Given the description of an element on the screen output the (x, y) to click on. 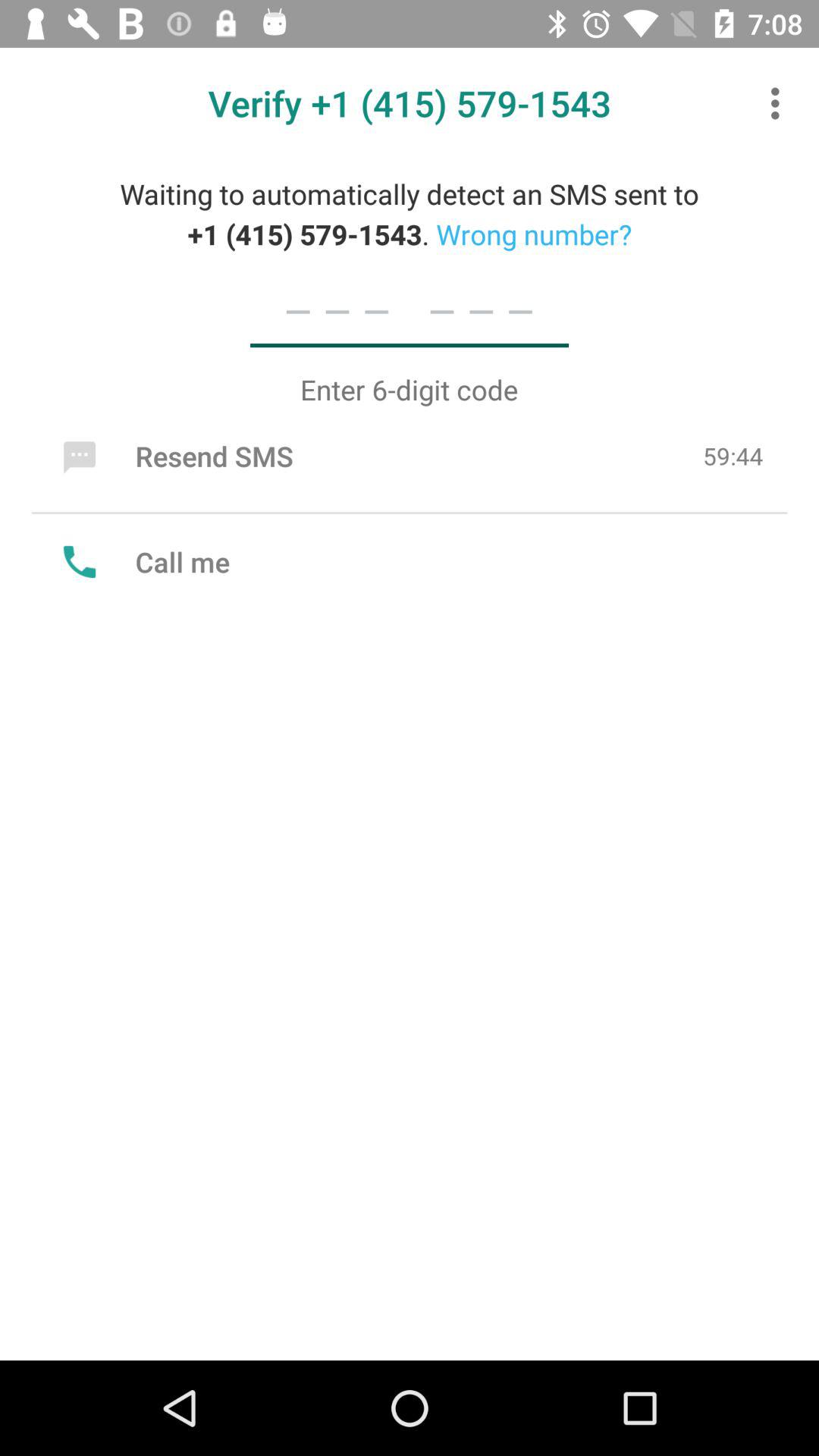
flip to resend sms item (174, 455)
